Given the description of an element on the screen output the (x, y) to click on. 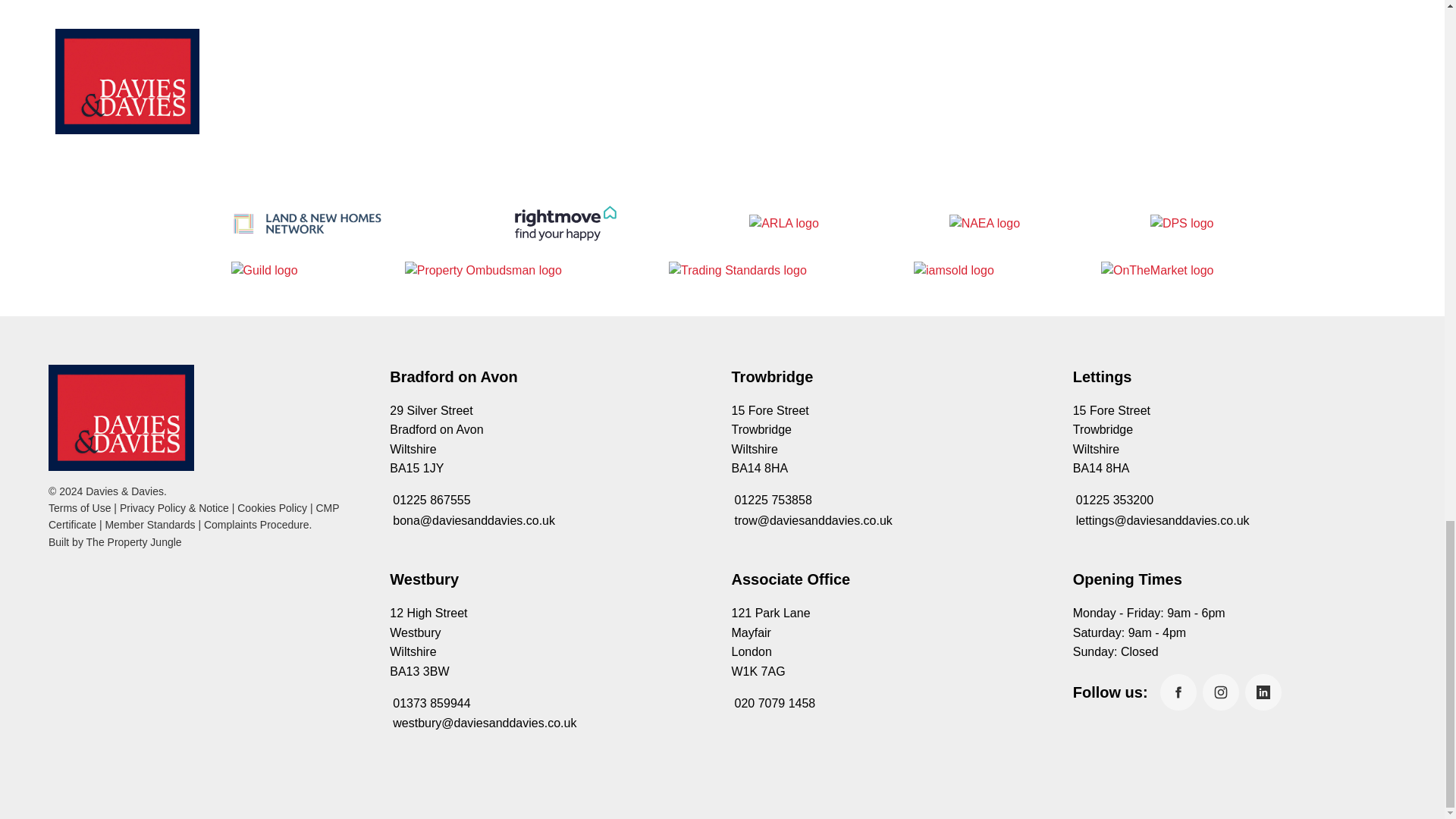
Terms of Use (79, 508)
Complaints Procedure (255, 524)
01225 867555 (430, 499)
01225 753858 (770, 499)
01373 859944 (430, 703)
Cookies Policy (272, 508)
Terms of Use (79, 508)
Cookies Policy (272, 508)
Built by The Property Jungle (115, 541)
CMP Certificate (193, 516)
